Given the description of an element on the screen output the (x, y) to click on. 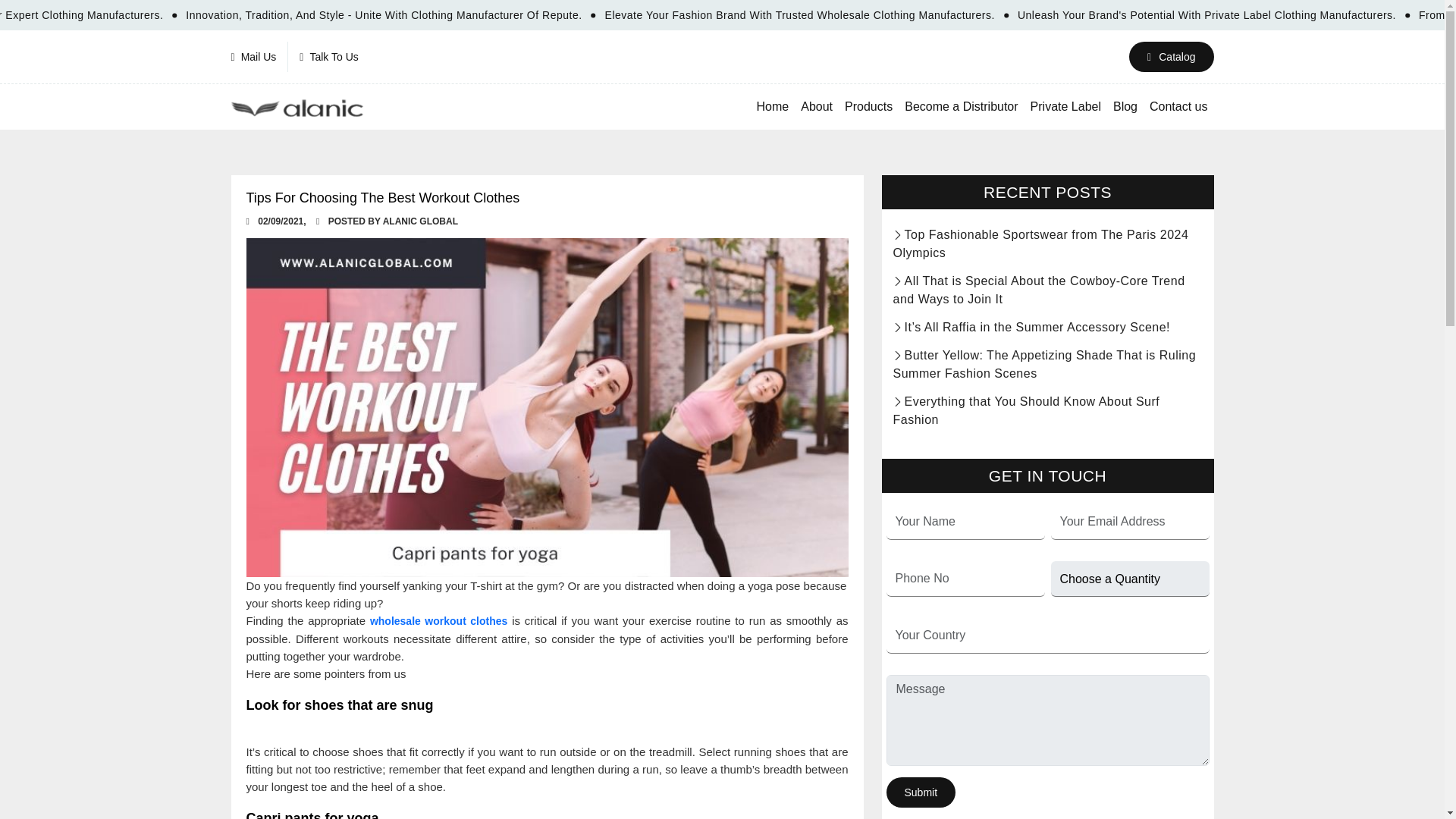
Home (772, 106)
Products (868, 106)
Products (868, 106)
Catalog (1170, 56)
Home (772, 106)
Mail Us (259, 56)
Talk To Us (328, 56)
About (816, 106)
